Given the description of an element on the screen output the (x, y) to click on. 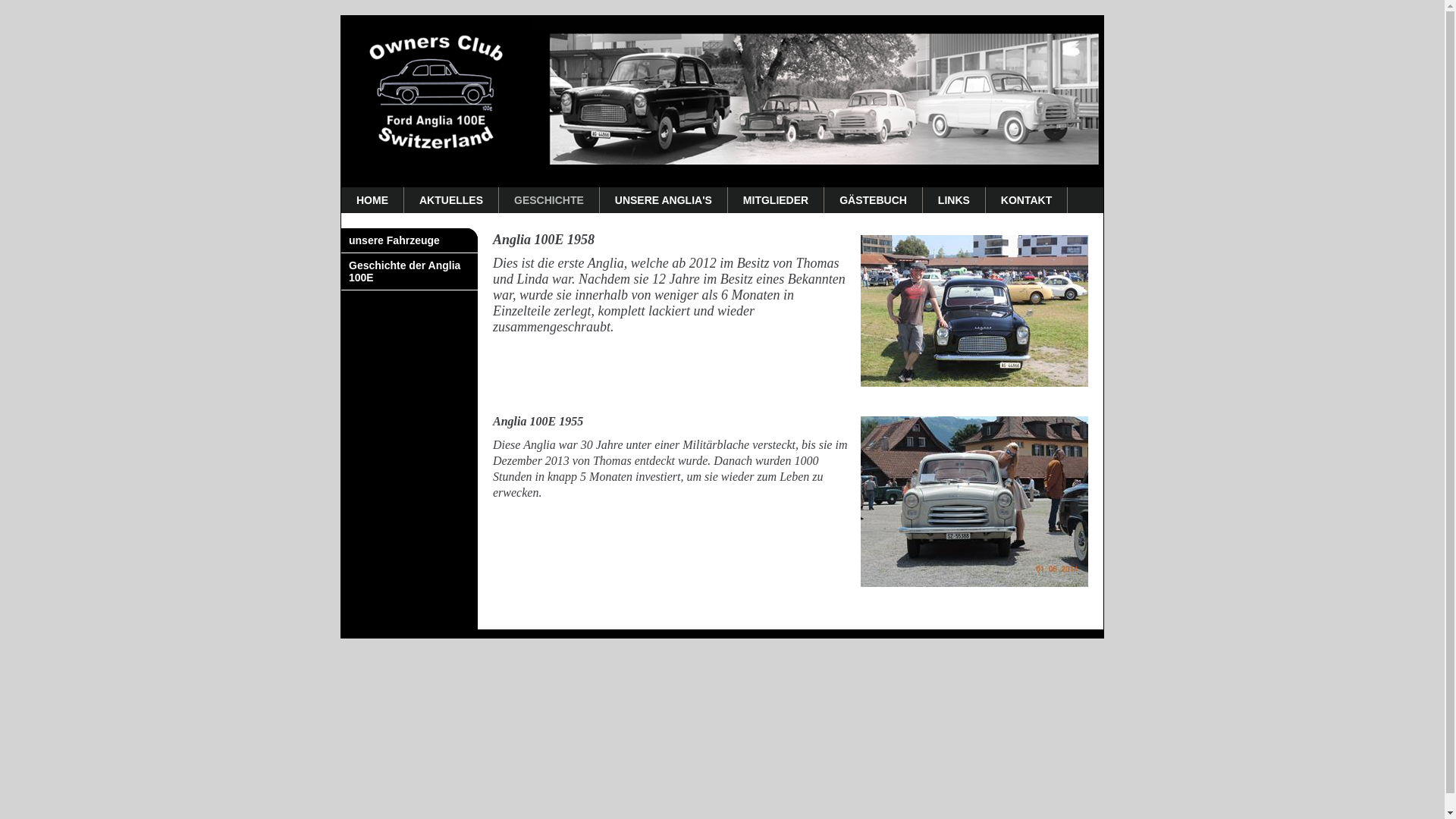
Geschichte der Anglia 100E Element type: text (409, 271)
Startseite Element type: text (940, 24)
Kontakt Element type: text (1000, 24)
UNSERE ANGLIA'S Element type: text (663, 200)
MITGLIEDER Element type: text (776, 200)
LINKS Element type: text (953, 200)
Impressum Element type: text (1065, 24)
GESCHICHTE Element type: text (548, 200)
KONTAKT Element type: text (1026, 200)
unsere Fahrzeuge Element type: text (409, 240)
AKTUELLES Element type: text (451, 200)
HOME Element type: text (372, 200)
